Given the description of an element on the screen output the (x, y) to click on. 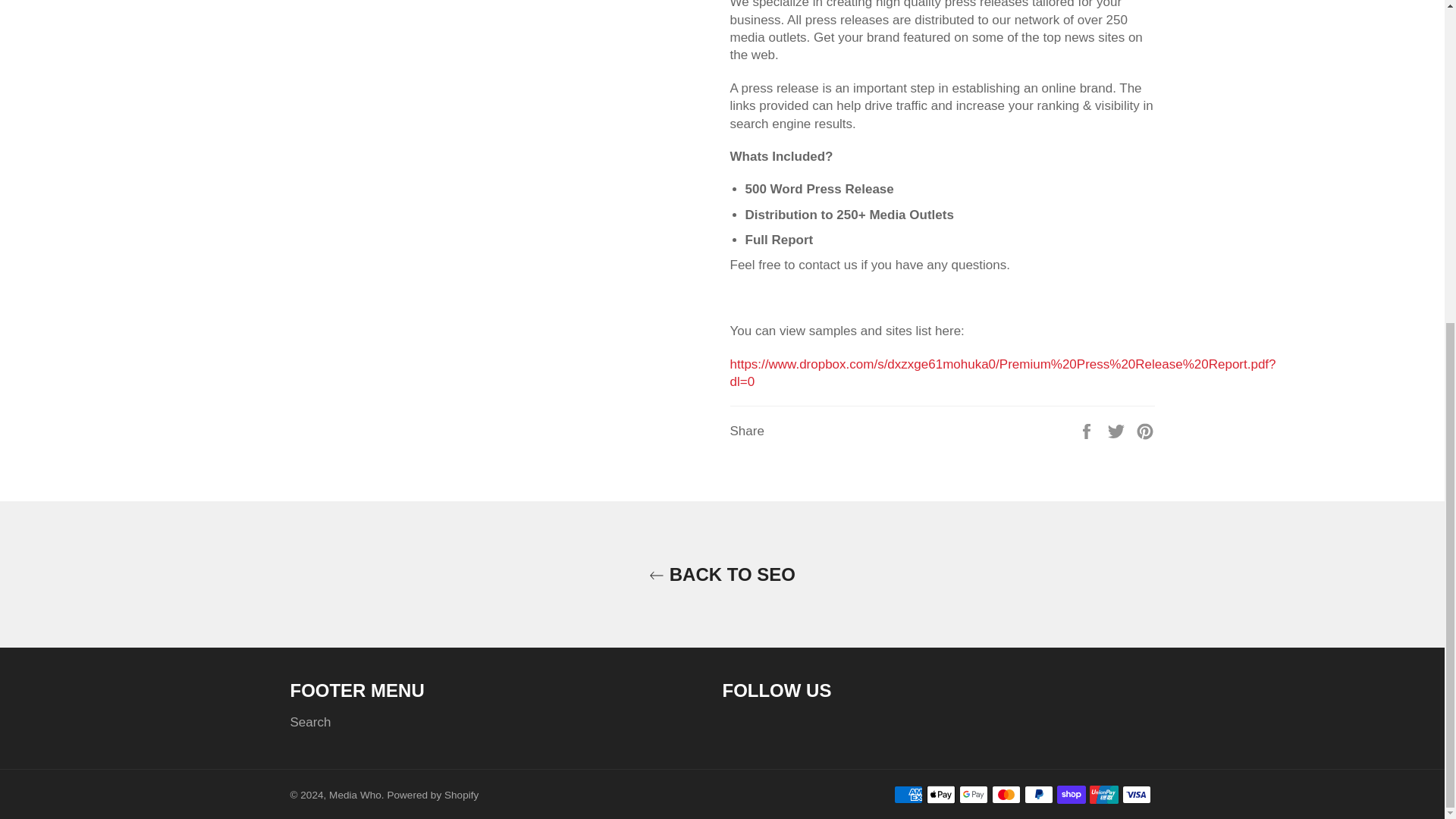
Pin on Pinterest (1144, 430)
Media Who (355, 794)
Search (309, 721)
BACK TO SEO (721, 574)
Tweet on Twitter (1117, 430)
Share on Facebook (1088, 430)
Pin on Pinterest (1144, 430)
Tweet on Twitter (1117, 430)
Powered by Shopify (433, 794)
Share on Facebook (1088, 430)
